Given the description of an element on the screen output the (x, y) to click on. 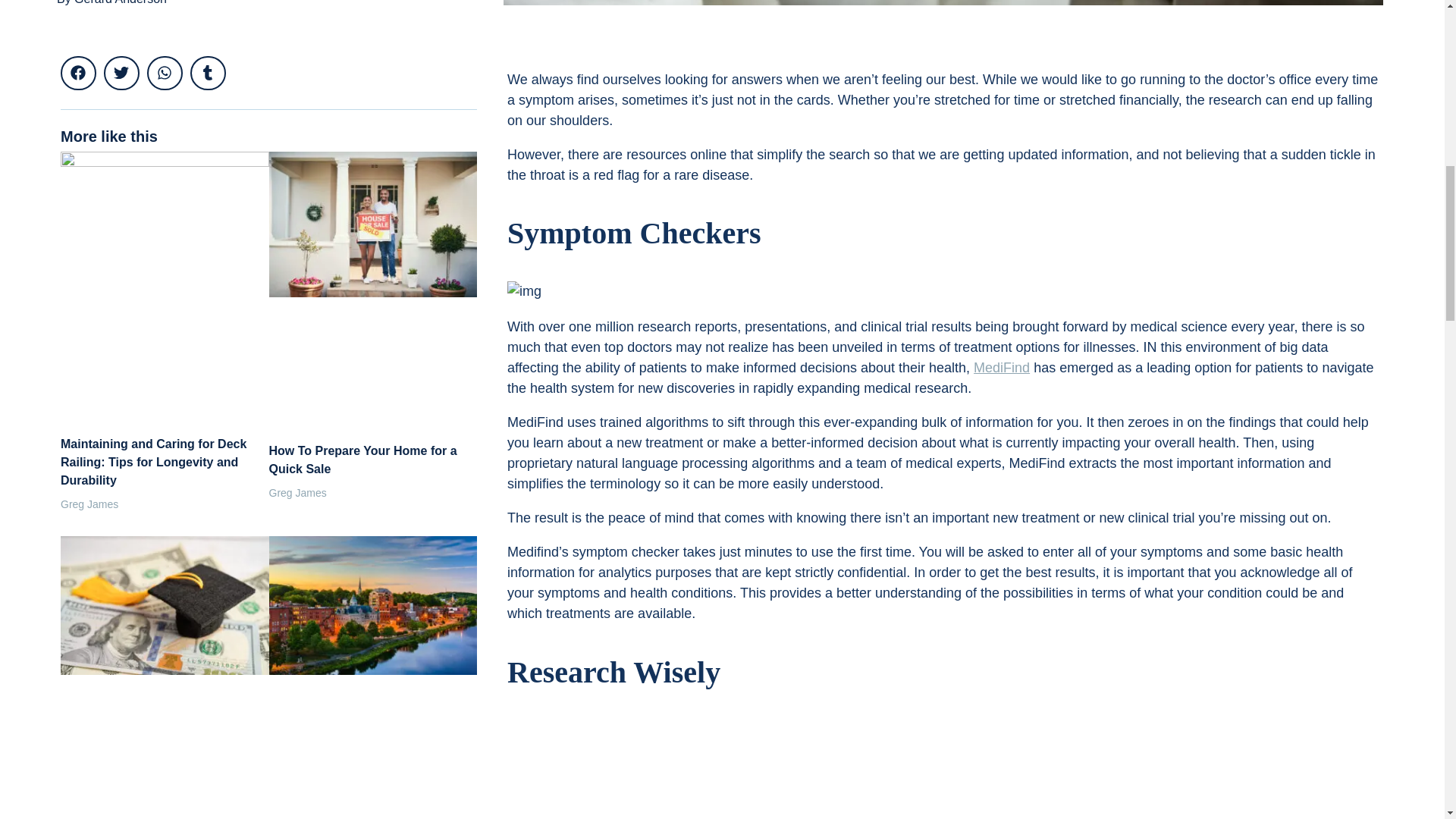
MediFind (1001, 367)
By Gerard Anderson (111, 2)
How To Prepare Your Home for a Quick Sale (363, 459)
